Given the description of an element on the screen output the (x, y) to click on. 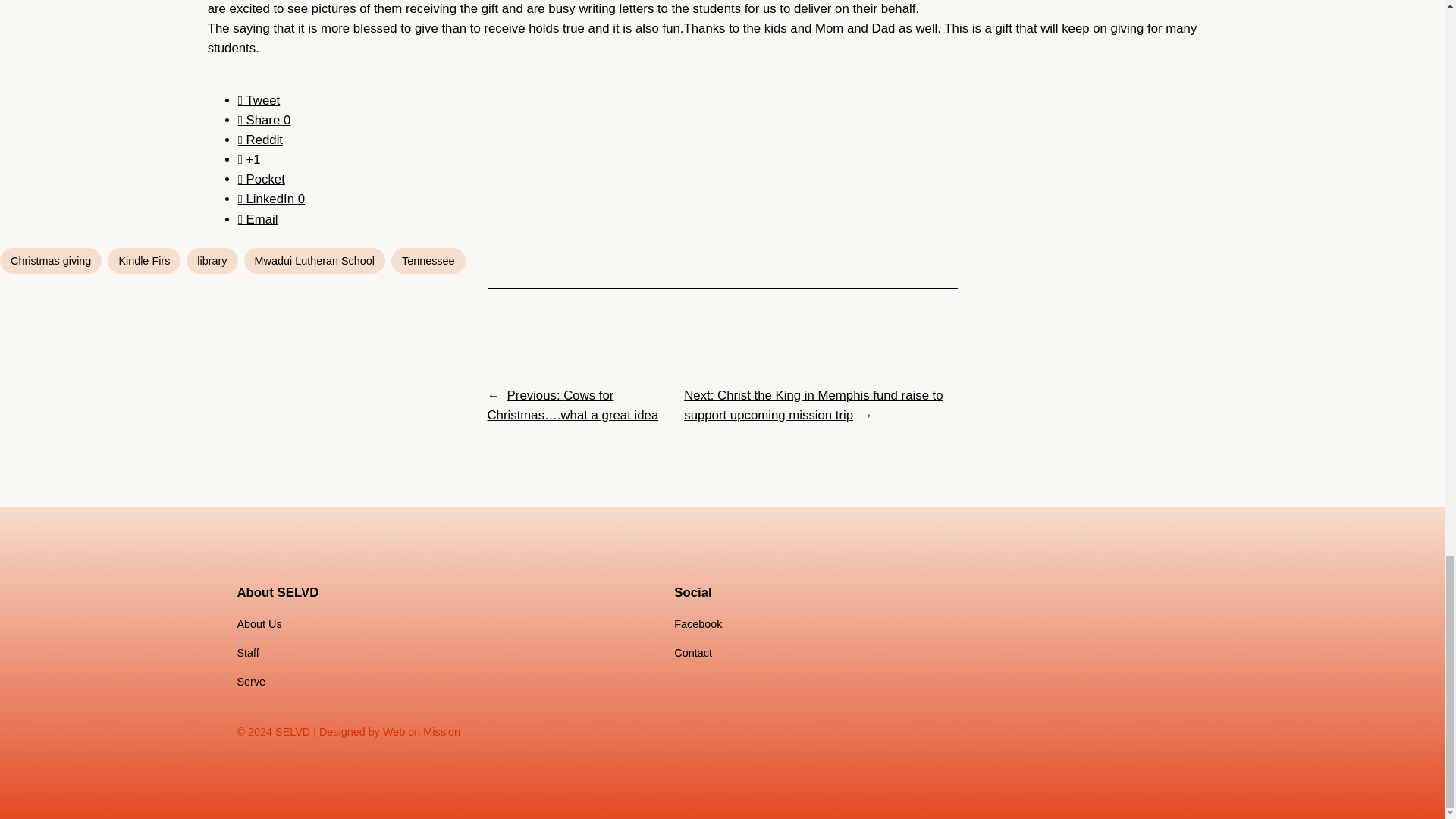
Tennessee (428, 260)
Tweet (259, 100)
Share on Facebook (264, 120)
Submit to Reddit (260, 139)
Serve (249, 681)
Contact (692, 652)
Share 0 (264, 120)
Reddit (260, 139)
Staff (247, 652)
LinkedIn 0 (271, 198)
